Given the description of an element on the screen output the (x, y) to click on. 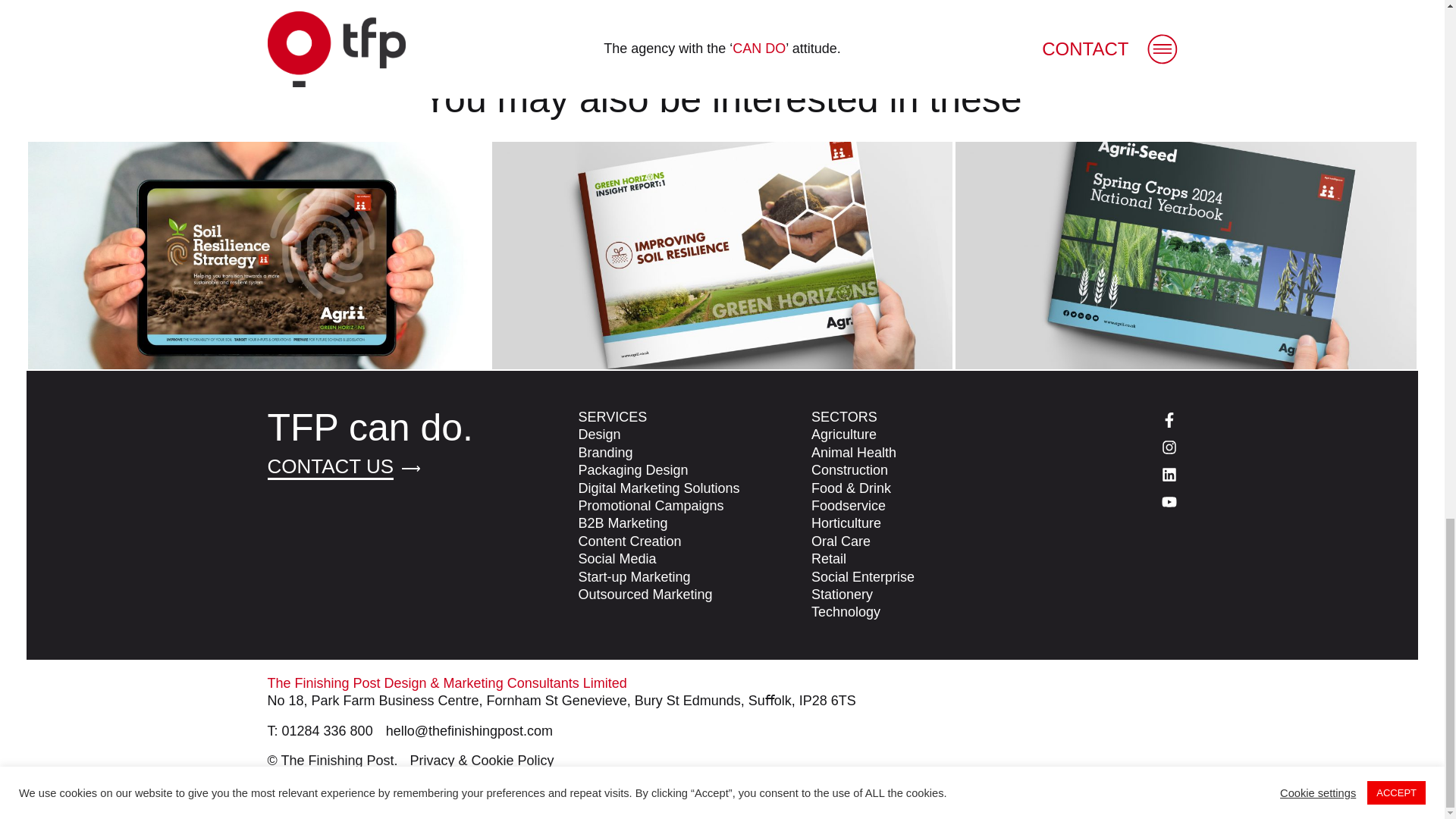
Outsourced Marketing (644, 594)
Instagram (1109, 445)
Linkedin (1109, 473)
Agriculture (843, 434)
Oral Care (840, 541)
Social Media (617, 559)
Construction (849, 470)
NEXT (923, 40)
Social Enterprise (862, 577)
Promotional Campaigns (650, 506)
Stationery (841, 594)
Facebook (1109, 418)
Technology (845, 611)
Foodservice (847, 506)
CONTACT US (329, 467)
